Given the description of an element on the screen output the (x, y) to click on. 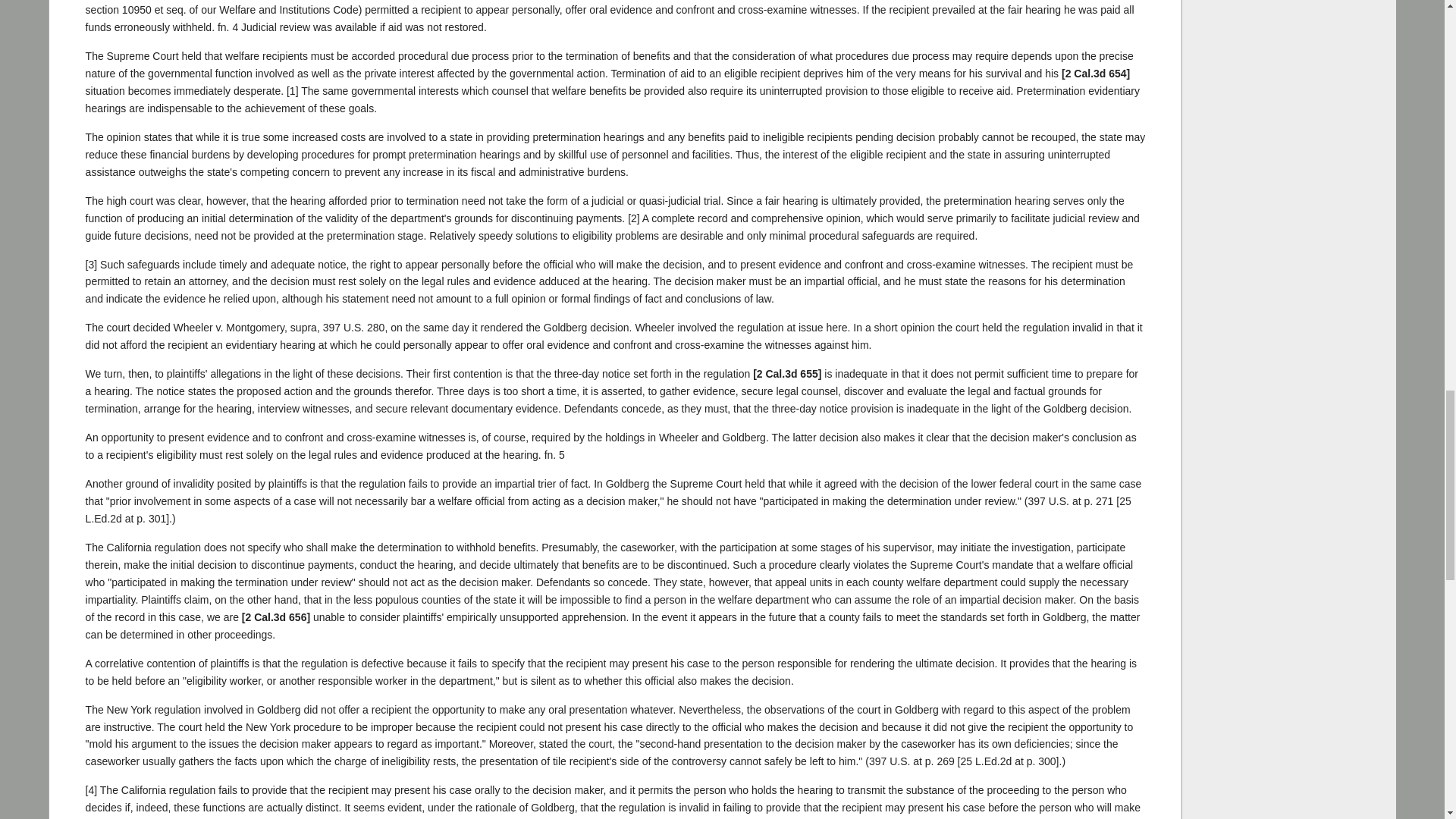
fn. 5 (554, 454)
fn. 4 (227, 27)
397 U.S. 280 (354, 327)
